Given the description of an element on the screen output the (x, y) to click on. 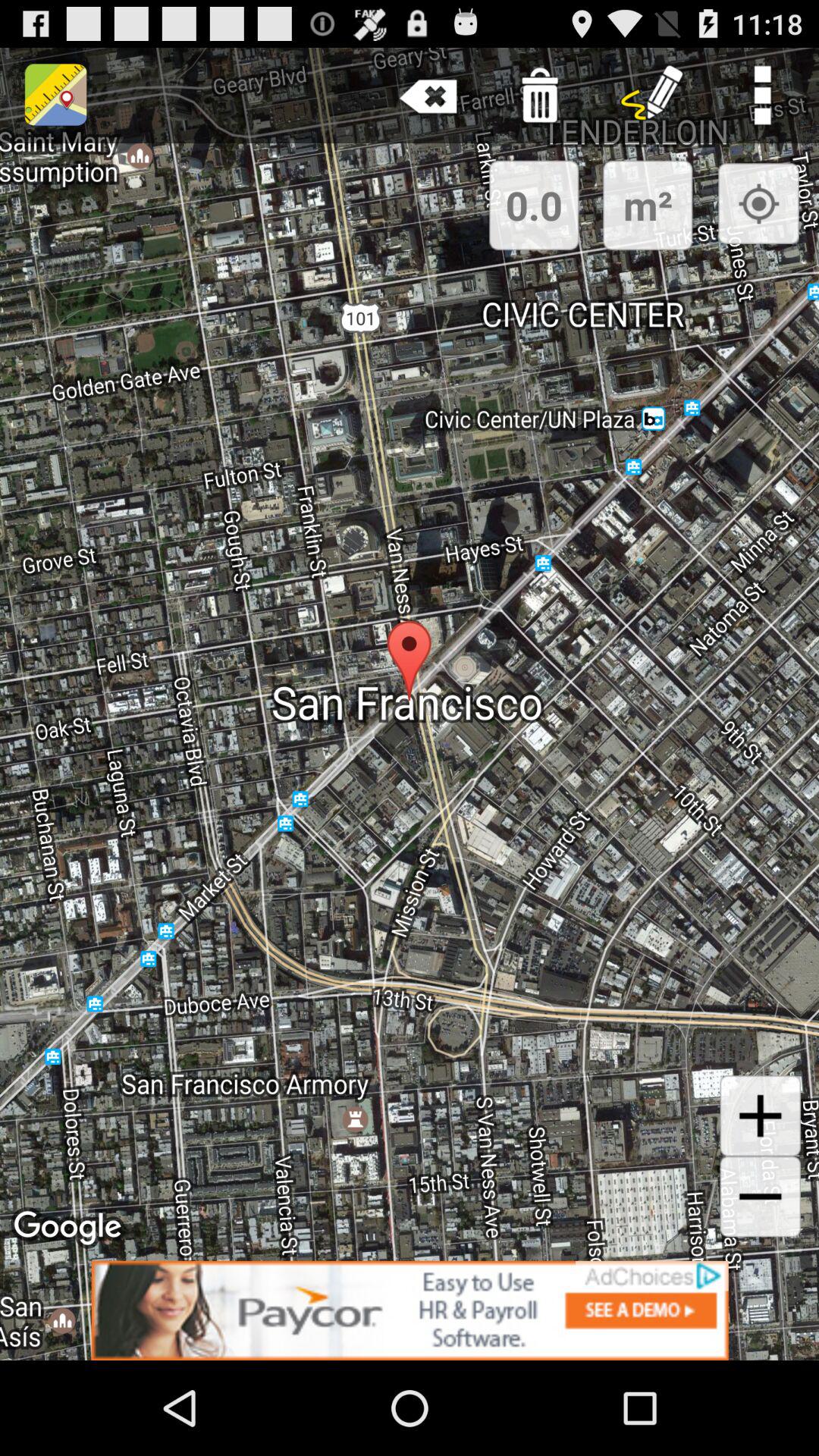
set marker (758, 203)
